Given the description of an element on the screen output the (x, y) to click on. 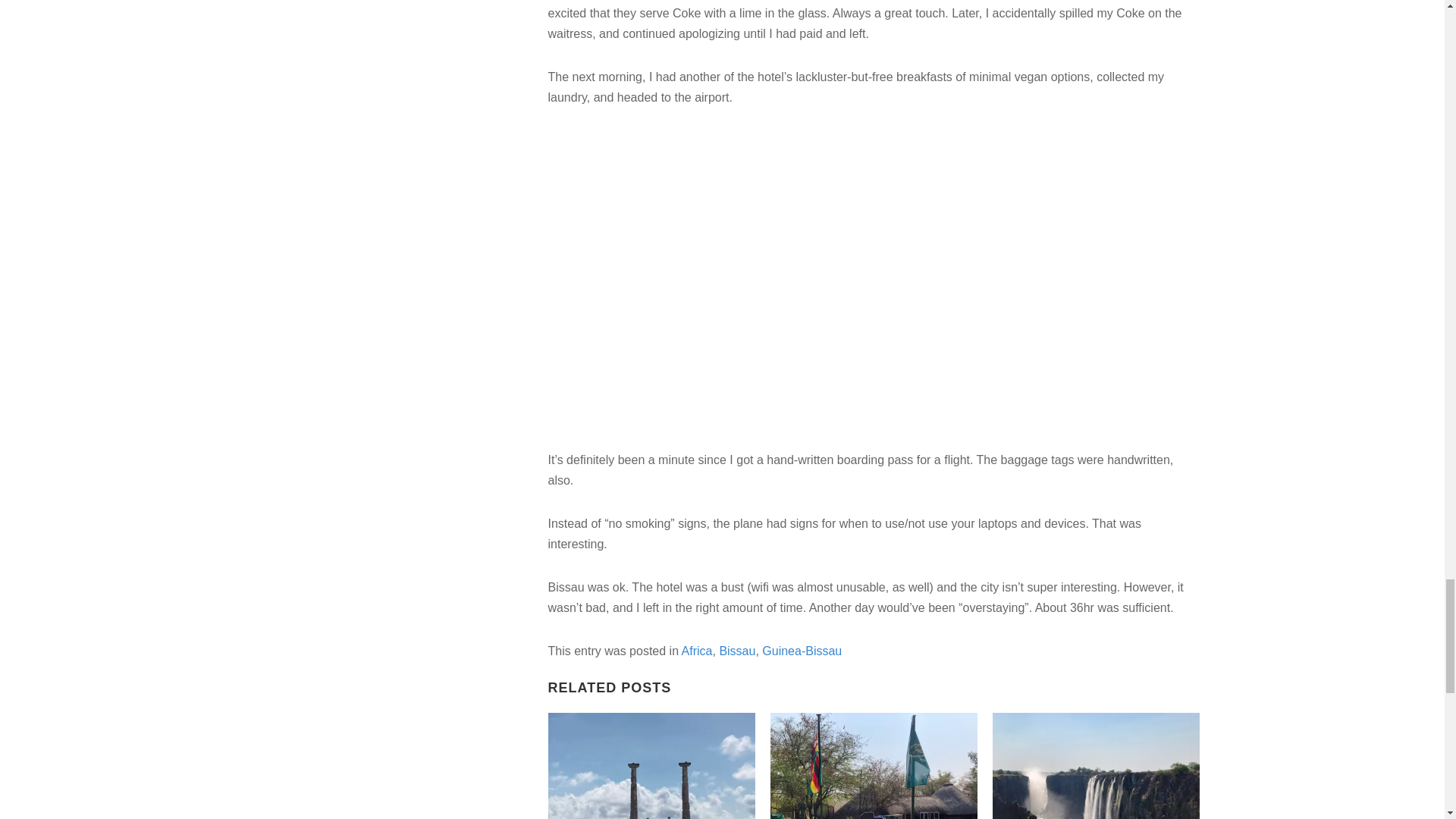
Guinea-Bissau (801, 650)
Africa (697, 650)
Bissau (737, 650)
